Given the description of an element on the screen output the (x, y) to click on. 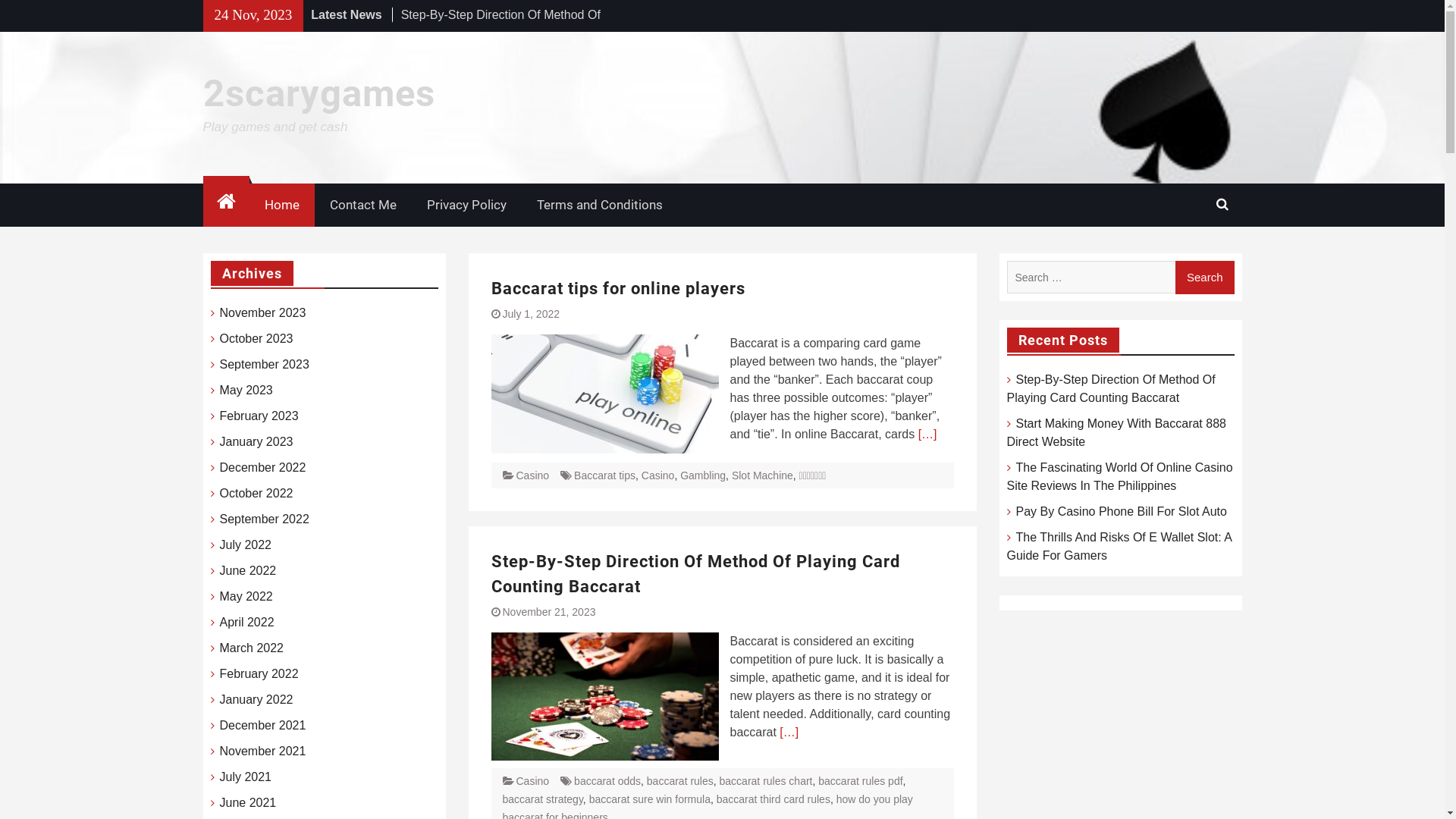
Baccarat tips Element type: text (604, 475)
October 2023 Element type: text (256, 338)
Gambling Element type: text (702, 475)
Search Element type: text (1204, 277)
May 2023 Element type: text (246, 390)
Terms and Conditions Element type: text (599, 205)
Casino Element type: text (657, 475)
Home Element type: text (226, 202)
baccarat strategy Element type: text (542, 799)
April 2022 Element type: text (246, 622)
February 2022 Element type: text (258, 674)
2scarygames Element type: text (319, 92)
Privacy Policy Element type: text (465, 205)
Baccarat tips for online players Element type: text (618, 288)
June 2022 Element type: text (247, 570)
baccarat rules pdf Element type: text (860, 781)
September 2023 Element type: text (264, 364)
Start Making Money With Baccarat 888 Direct Website Element type: text (1116, 432)
baccarat sure win formula Element type: text (649, 799)
baccarat third card rules Element type: text (773, 799)
Contact Me Element type: text (362, 205)
September 2022 Element type: text (264, 519)
July 1, 2022 Element type: text (530, 313)
baccarat rules chart Element type: text (765, 781)
November 2021 Element type: text (262, 751)
The Thrills And Risks Of E Wallet Slot: A Guide For Gamers Element type: text (1119, 545)
December 2021 Element type: text (262, 725)
June 2021 Element type: text (247, 802)
May 2022 Element type: text (246, 596)
baccarat rules Element type: text (679, 781)
Pay By Casino Phone Bill For Slot Auto Element type: text (1121, 511)
March 2022 Element type: text (251, 648)
baccarat odds Element type: text (607, 781)
January 2023 Element type: text (256, 442)
February 2023 Element type: text (258, 416)
Casino Element type: text (532, 781)
Slot Machine Element type: text (762, 475)
July 2022 Element type: text (245, 545)
Casino Element type: text (532, 475)
November 21, 2023 Element type: text (548, 611)
October 2022 Element type: text (256, 493)
December 2022 Element type: text (262, 467)
January 2022 Element type: text (256, 699)
Home Element type: text (280, 205)
July 2021 Element type: text (245, 777)
November 2023 Element type: text (262, 313)
